Given the description of an element on the screen output the (x, y) to click on. 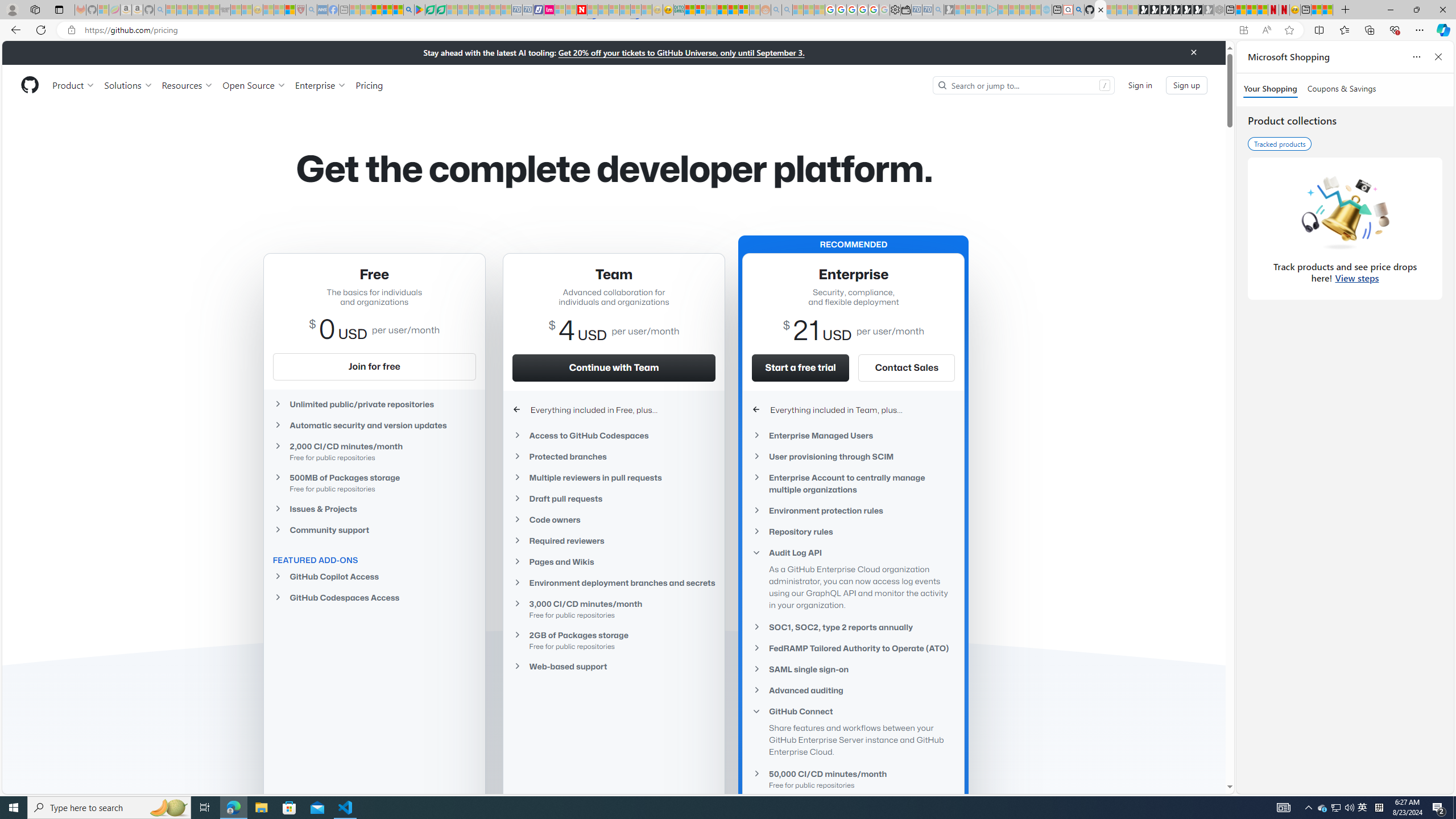
Environment deployment branches and secrets (614, 582)
Continue with Team (614, 367)
Everything included in Free, plus... (614, 409)
Pets - MSN (387, 9)
GitHub Copilot Access (374, 576)
Start a free trial (799, 367)
SOC1, SOC2, type 2 reports annually (853, 626)
